Given the description of an element on the screen output the (x, y) to click on. 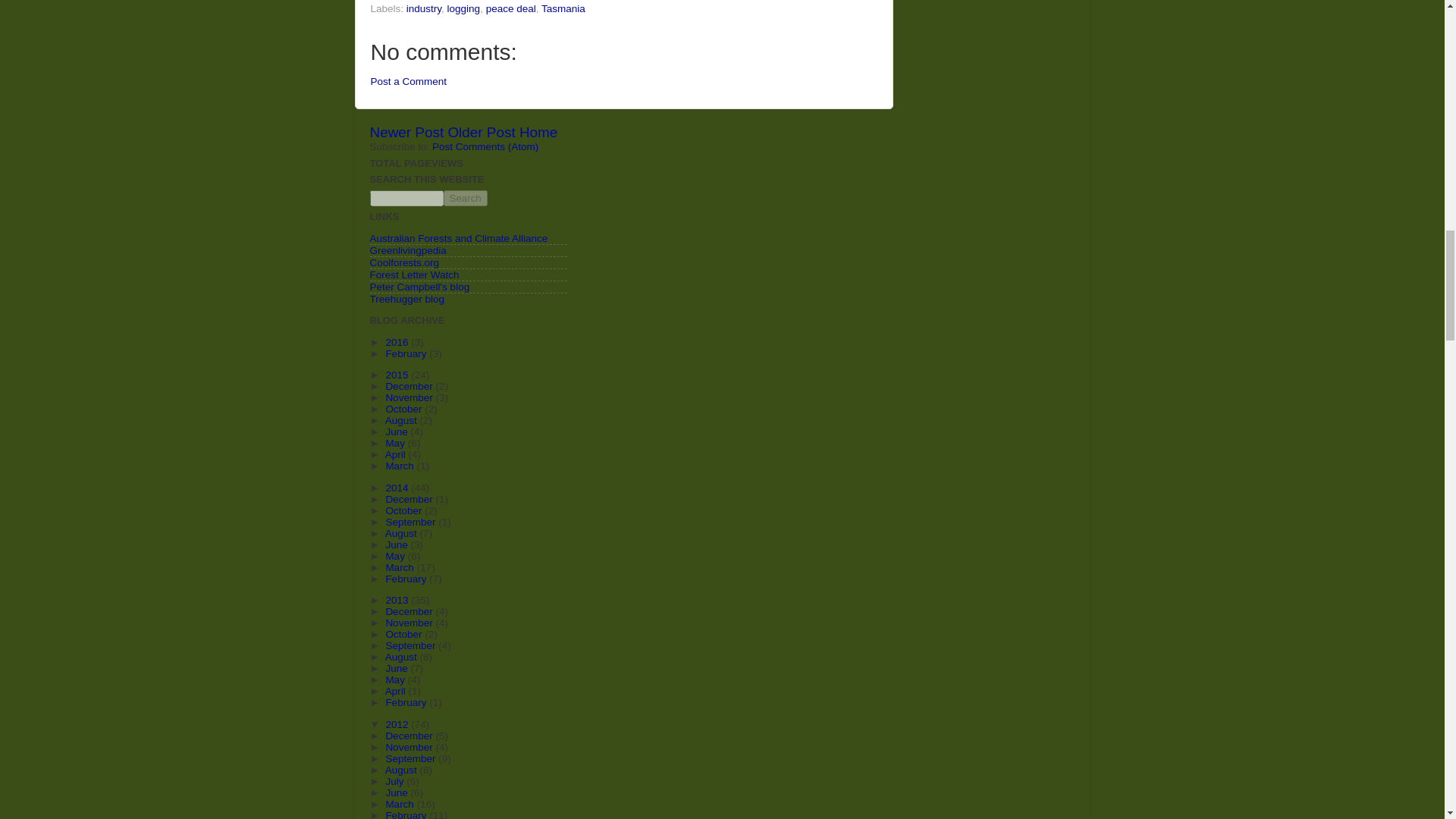
Australian Forests and Climate Alliance (458, 238)
Treehugger blog (407, 298)
February (407, 353)
Greenlivingpedia (407, 250)
Newer Post (406, 132)
search (406, 198)
Search (464, 198)
search (464, 198)
peace deal (510, 8)
Coolforests.org (404, 262)
logging (463, 8)
2015 (397, 374)
Search (464, 198)
Home (538, 132)
Forest Letter Watch (414, 274)
